Given the description of an element on the screen output the (x, y) to click on. 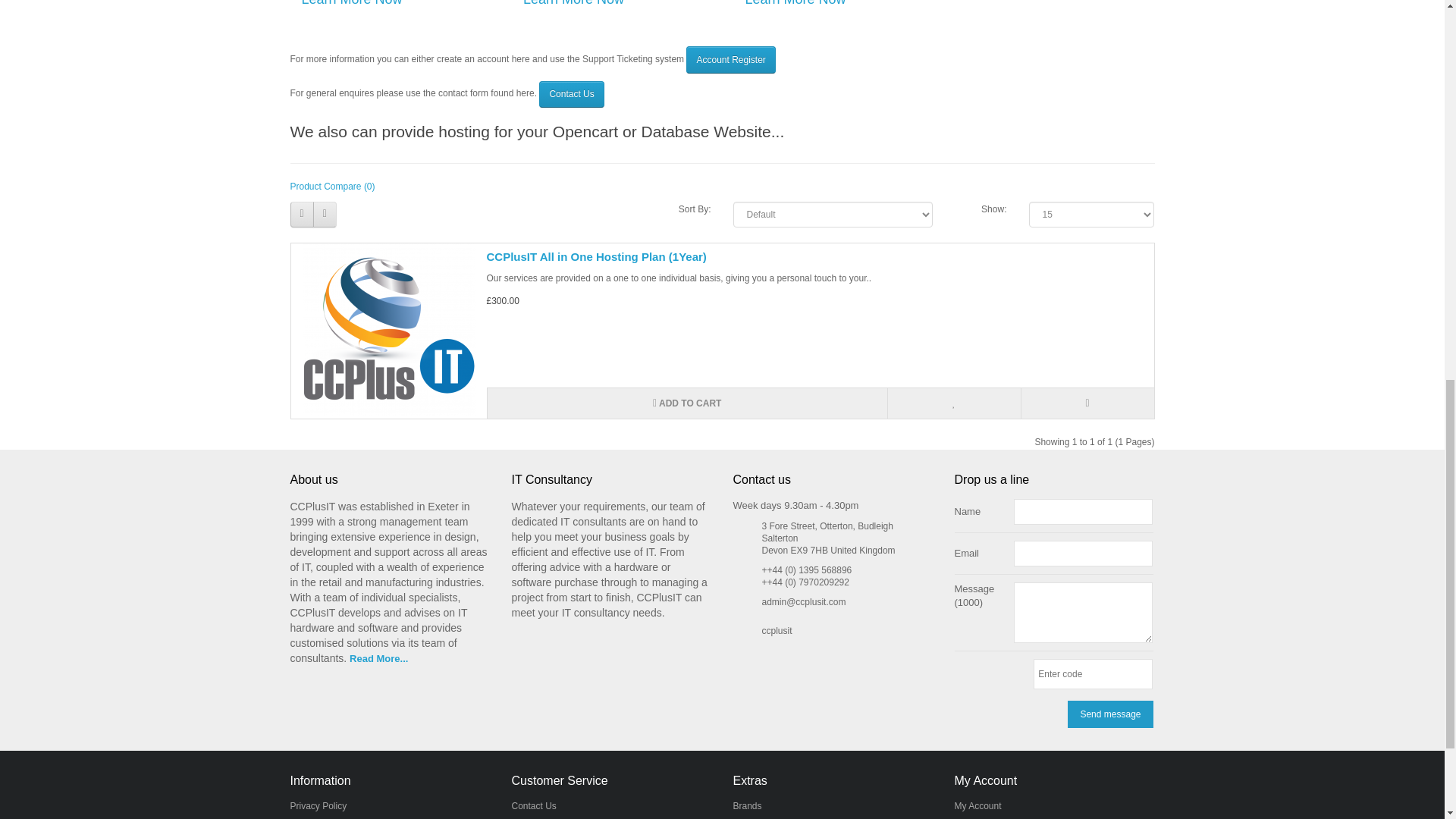
Send message (1110, 714)
Add to Wish List (953, 403)
List (301, 214)
Learn More Now (352, 3)
ADD TO CART (686, 403)
Learn More Now (573, 3)
Compare this Product (1087, 403)
Learn More Now (794, 3)
Grid (324, 214)
Contact Us (571, 94)
